Given the description of an element on the screen output the (x, y) to click on. 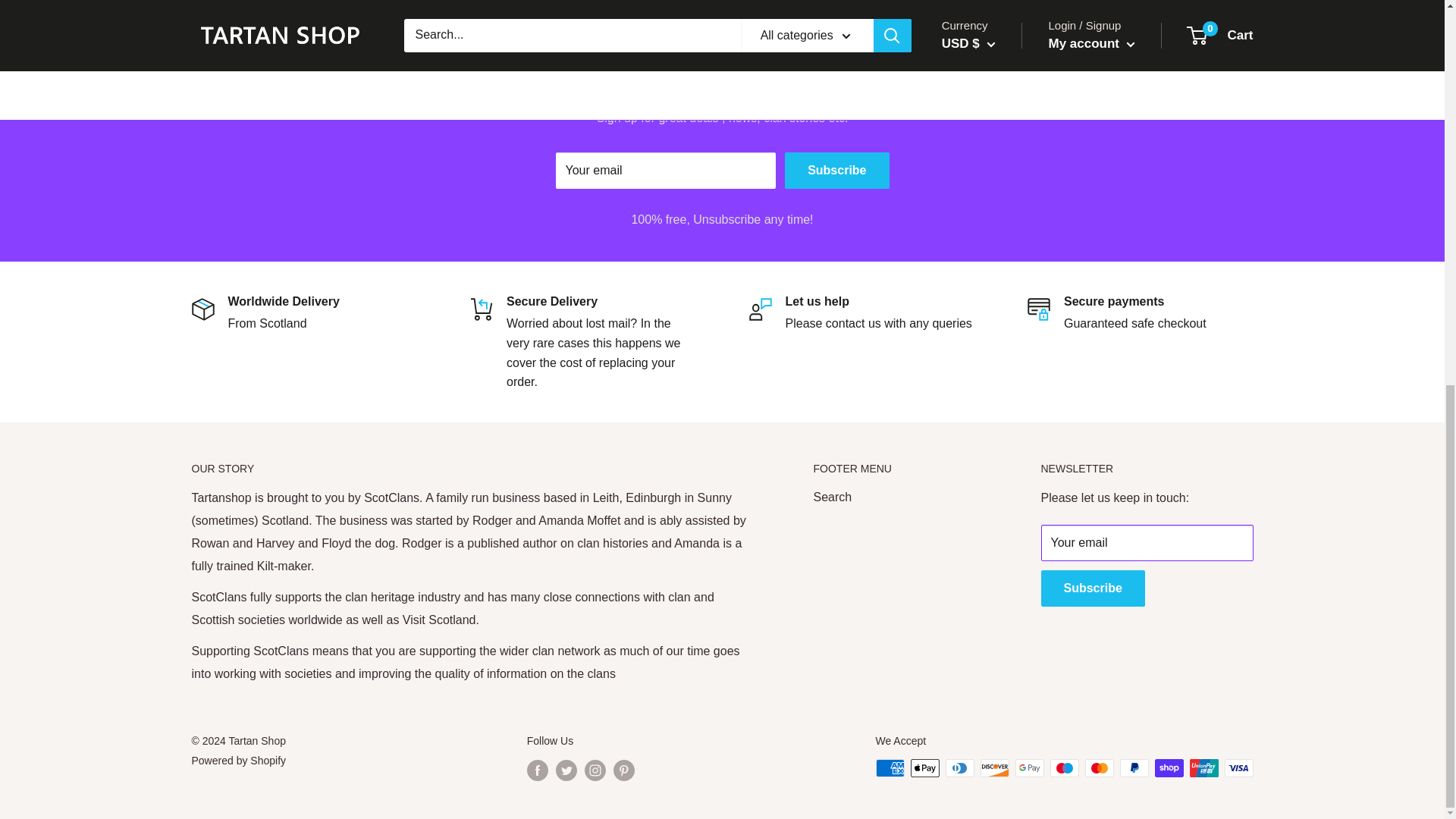
Search (899, 497)
Subscribe (836, 170)
Subscribe (1092, 588)
OUR STORY (475, 469)
Powered by Shopify (237, 760)
FOOTER MENU (899, 469)
